Given the description of an element on the screen output the (x, y) to click on. 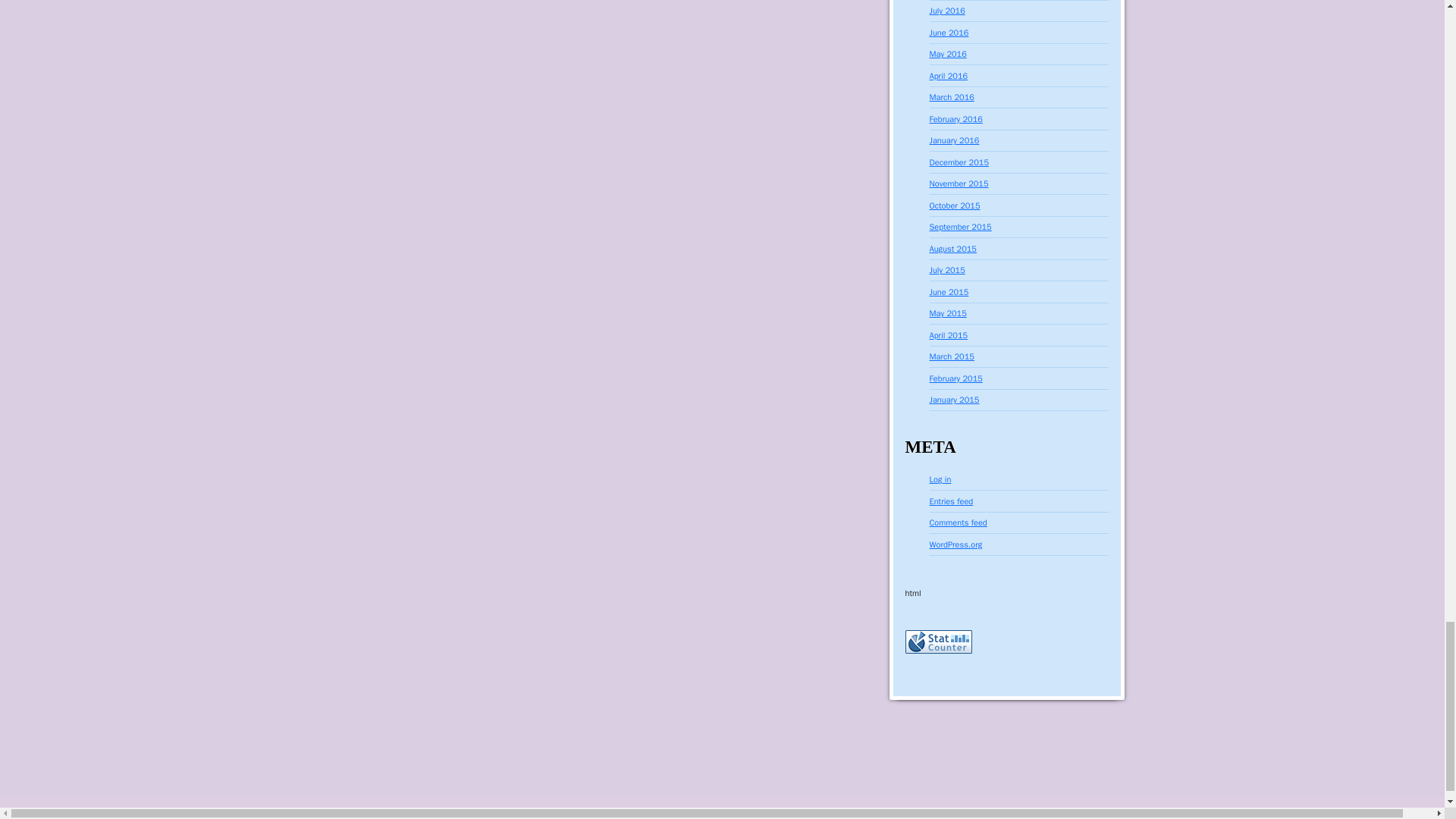
Semantic Personal Publishing Platform (105, 812)
site stats (938, 640)
